Given the description of an element on the screen output the (x, y) to click on. 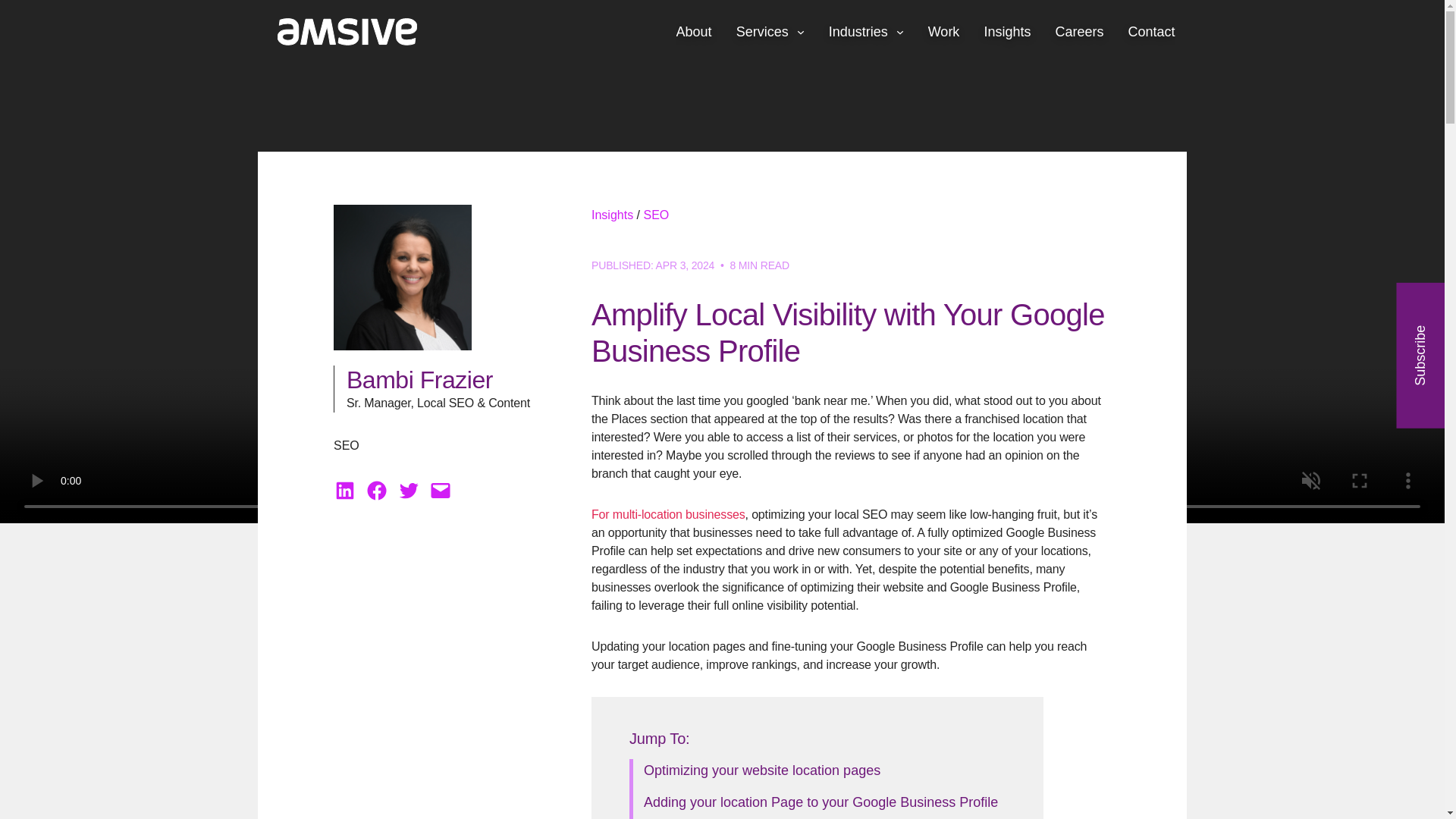
Homepage (339, 31)
Twitter (408, 490)
Services (770, 31)
Share via Email (440, 490)
Industries (866, 31)
LinkedIn (344, 490)
Facebook (376, 490)
